Given the description of an element on the screen output the (x, y) to click on. 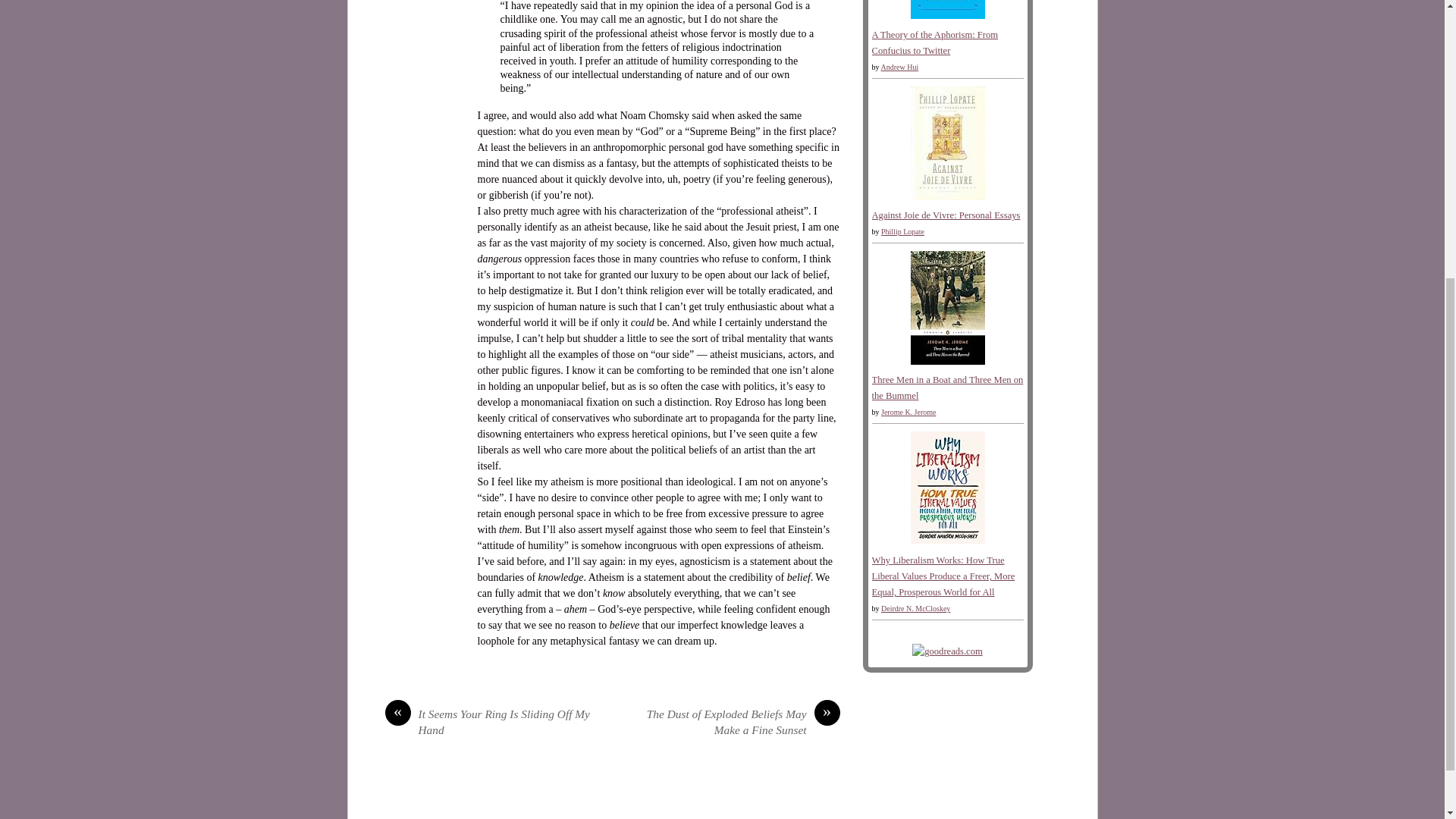
A Theory of the Aphorism: From Confucius to Twitter (935, 42)
A Theory of the Aphorism: From Confucius to Twitter (947, 15)
Three Men in a Boat and Three Men on the Bummel (947, 361)
Deirdre N. McCloskey (915, 608)
Phillip Lopate (902, 231)
Jerome K. Jerome (908, 411)
Against Joie de Vivre: Personal Essays (946, 214)
Andrew Hui (899, 67)
